Given the description of an element on the screen output the (x, y) to click on. 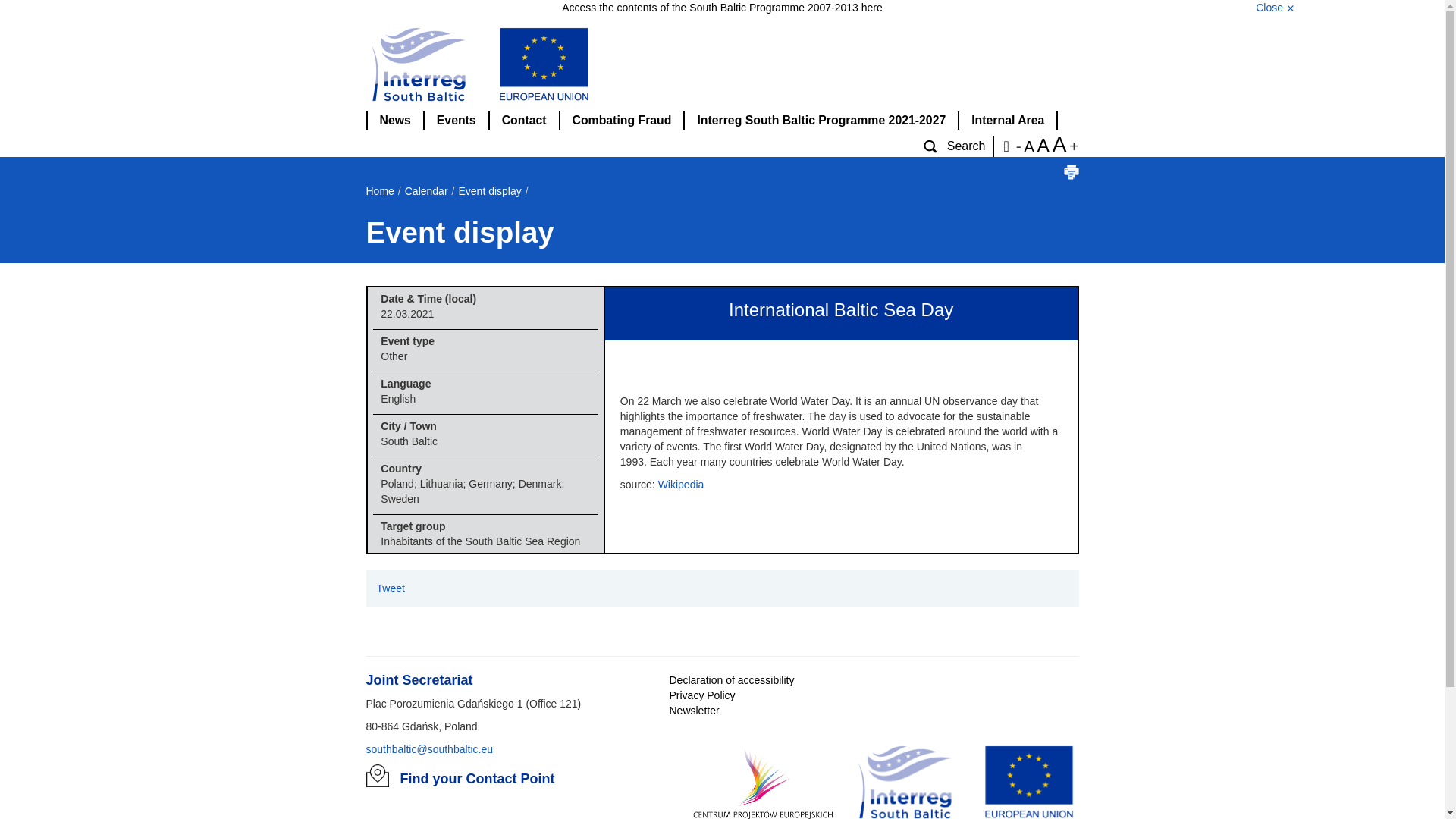
Wikipedia (681, 484)
Newsletter (693, 710)
Event display (489, 191)
Contact (524, 120)
News (394, 120)
Find your Contact Point (477, 778)
Calendar (426, 191)
Privacy Policy (701, 695)
Home (379, 191)
Joint Secretariat (418, 680)
Go to Home (721, 64)
Combating Fraud (622, 120)
Tweet (389, 588)
Interreg South Baltic Programme 2021-2027 (821, 120)
